Given the description of an element on the screen output the (x, y) to click on. 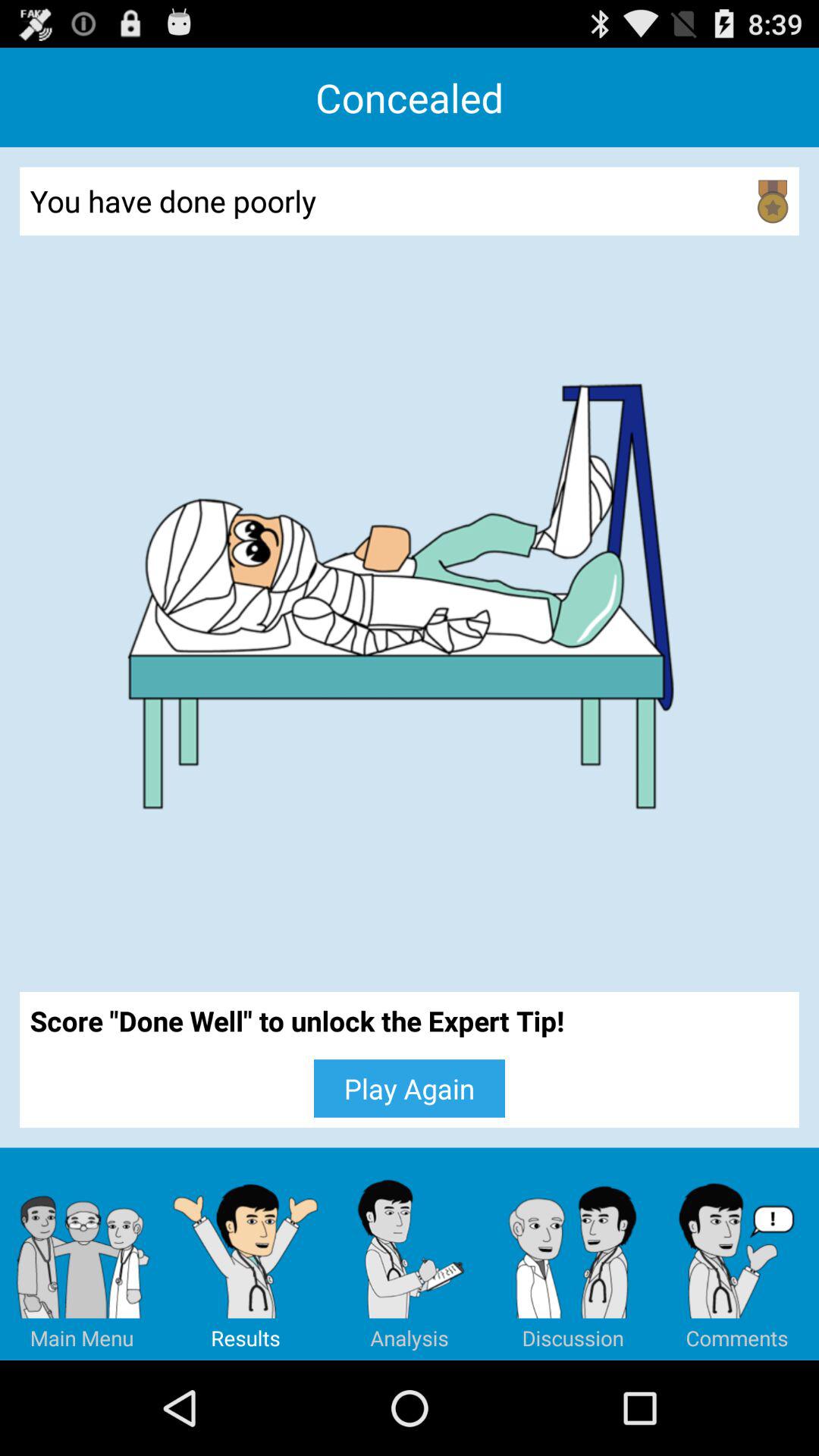
tap item below the score done well icon (737, 1253)
